Given the description of an element on the screen output the (x, y) to click on. 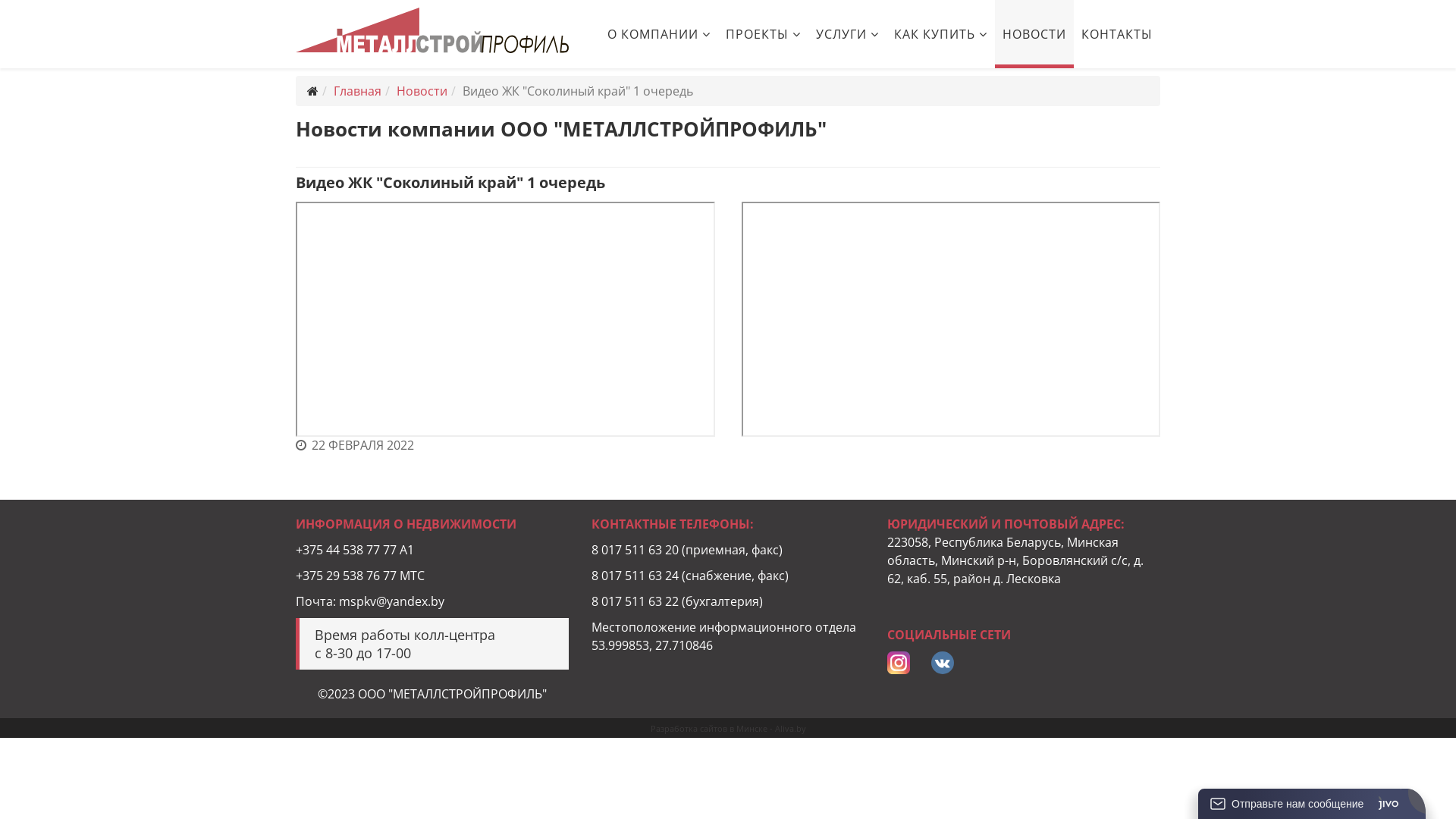
8 017 511 63 24 Element type: text (634, 575)
+375 29 538 76 77 Element type: text (345, 575)
mspkv@yandex.by Element type: text (391, 601)
8 017 511 63 22 Element type: text (634, 601)
+375 44 538 77 77 Element type: text (345, 549)
8 017 511 63 20 Element type: text (634, 549)
